Given the description of an element on the screen output the (x, y) to click on. 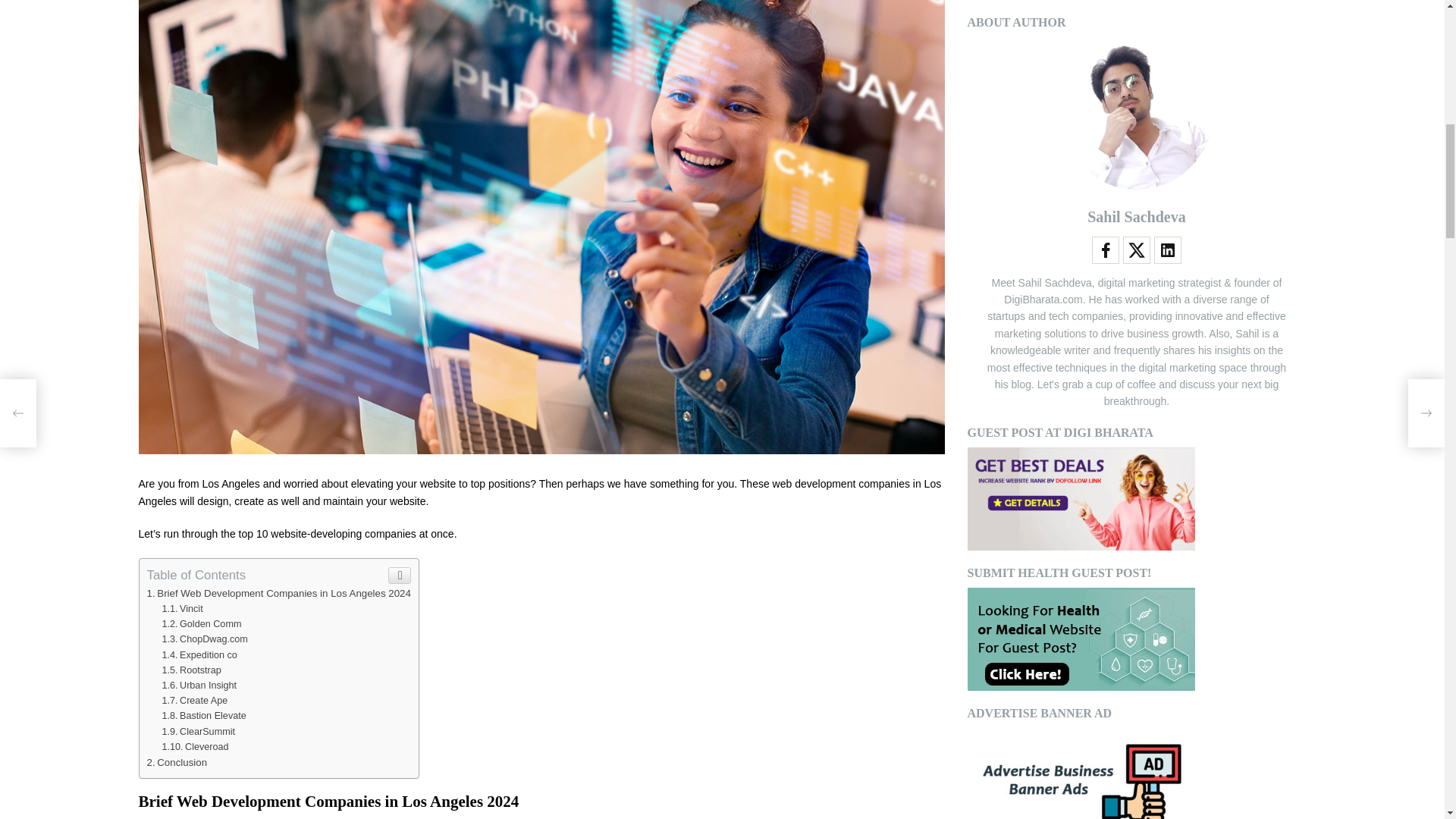
Vincit (181, 608)
Brief Web Development Companies in Los Angeles 2024 (278, 593)
Create Ape (194, 700)
Cleveroad (194, 747)
ClearSummit (197, 731)
Conclusion (177, 762)
Search (1273, 576)
Golden Comm (201, 624)
Expedition co (198, 655)
ChopDwag.com (204, 638)
